Given the description of an element on the screen output the (x, y) to click on. 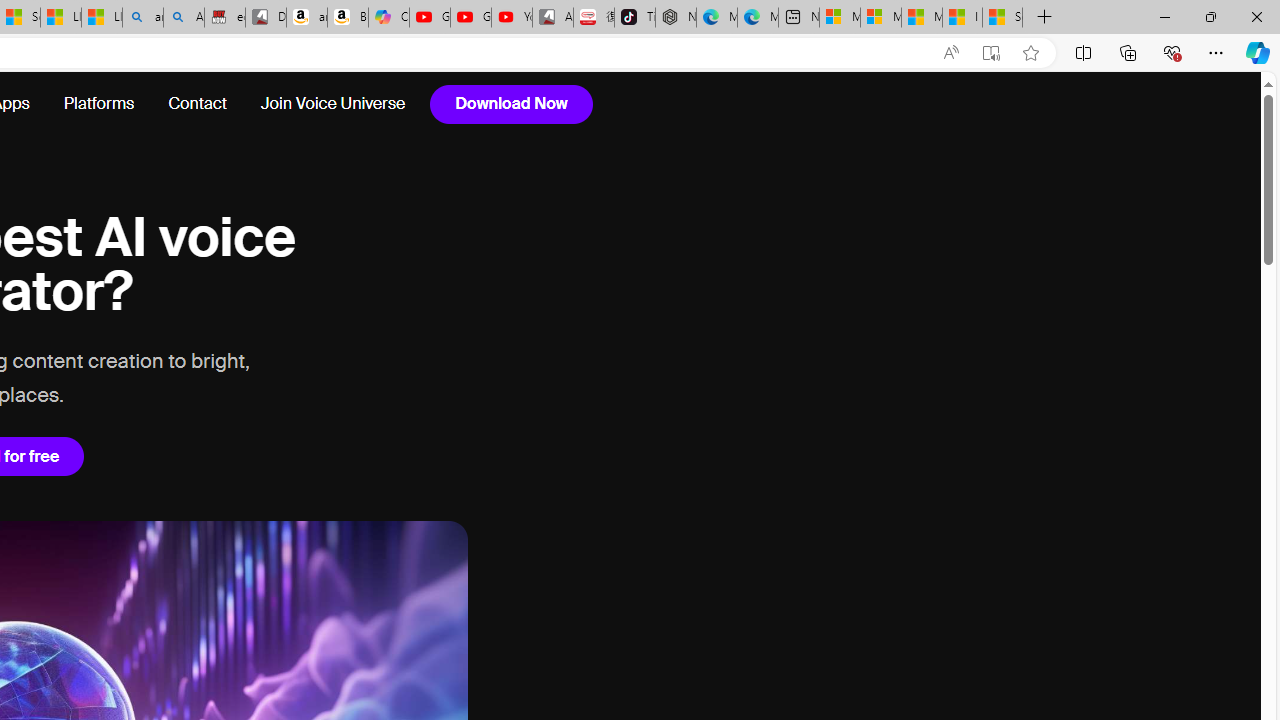
Enter Immersive Reader (F9) (991, 53)
Platforms (99, 103)
Join Voice Universe (332, 103)
Contact (197, 103)
